Given the description of an element on the screen output the (x, y) to click on. 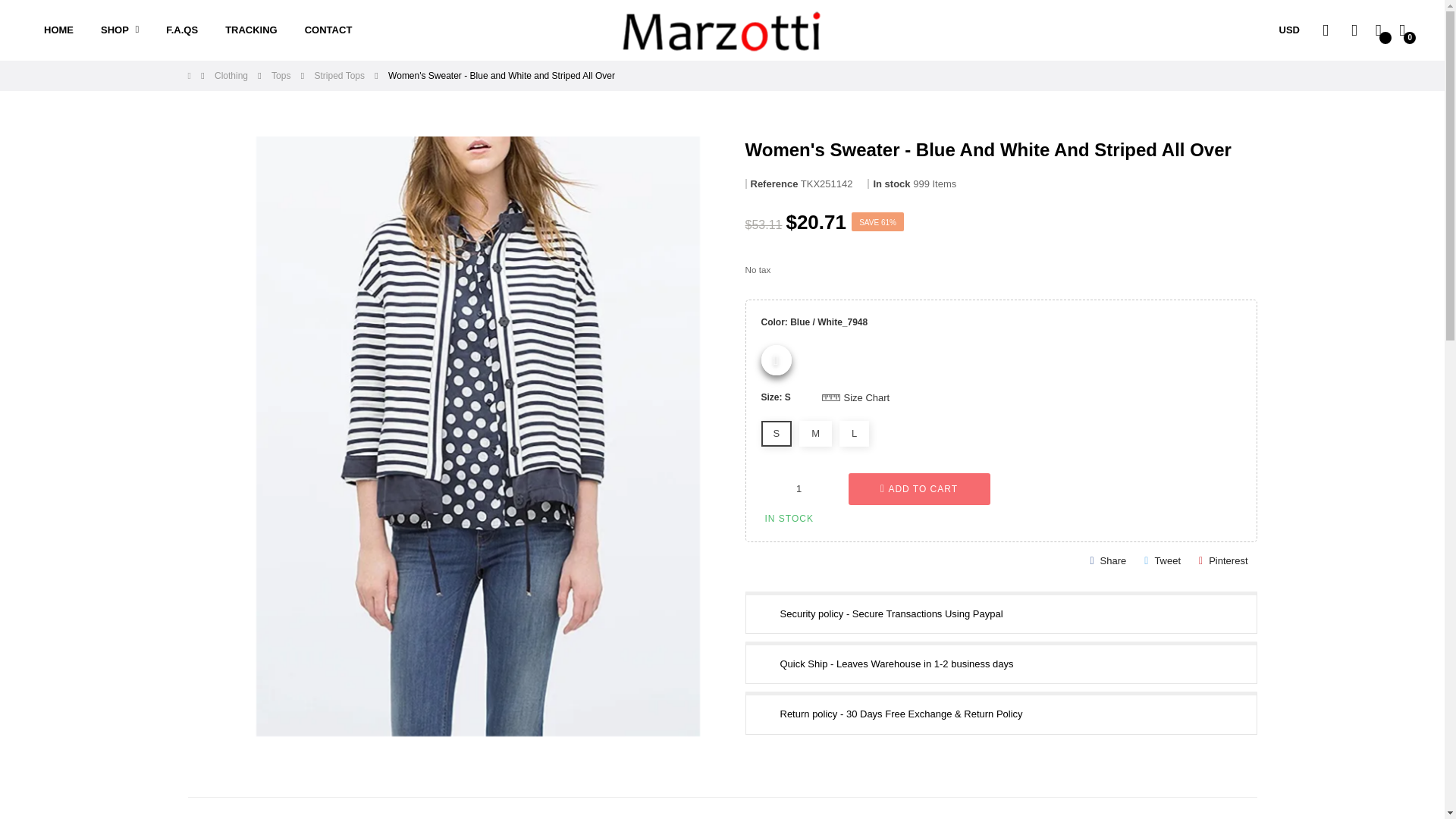
1 (799, 488)
HOME (58, 30)
SHOP (119, 30)
